Given the description of an element on the screen output the (x, y) to click on. 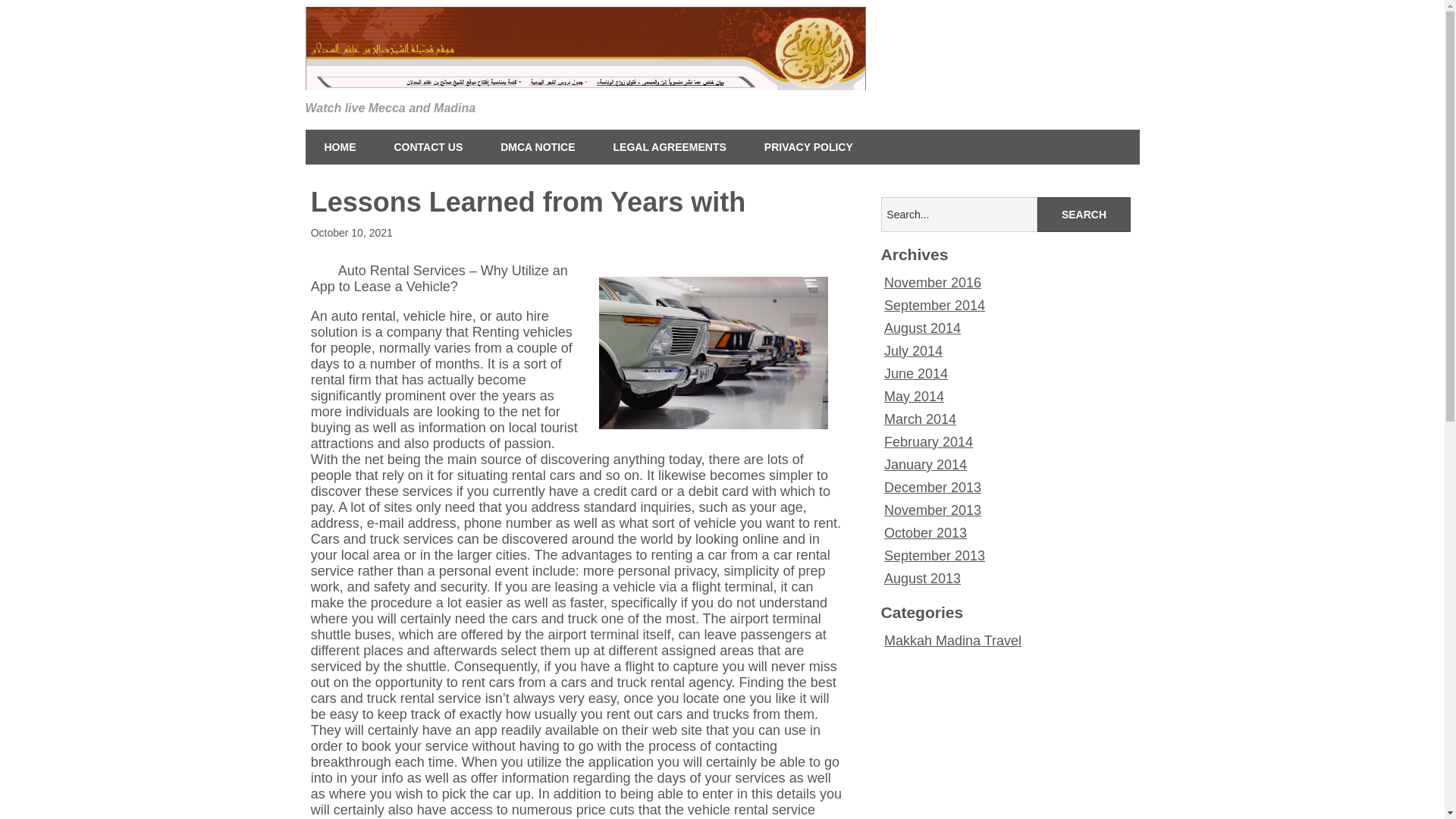
HOME (339, 146)
DMCA NOTICE (537, 146)
CONTACT US (427, 146)
LEGAL AGREEMENTS (669, 146)
